Given the description of an element on the screen output the (x, y) to click on. 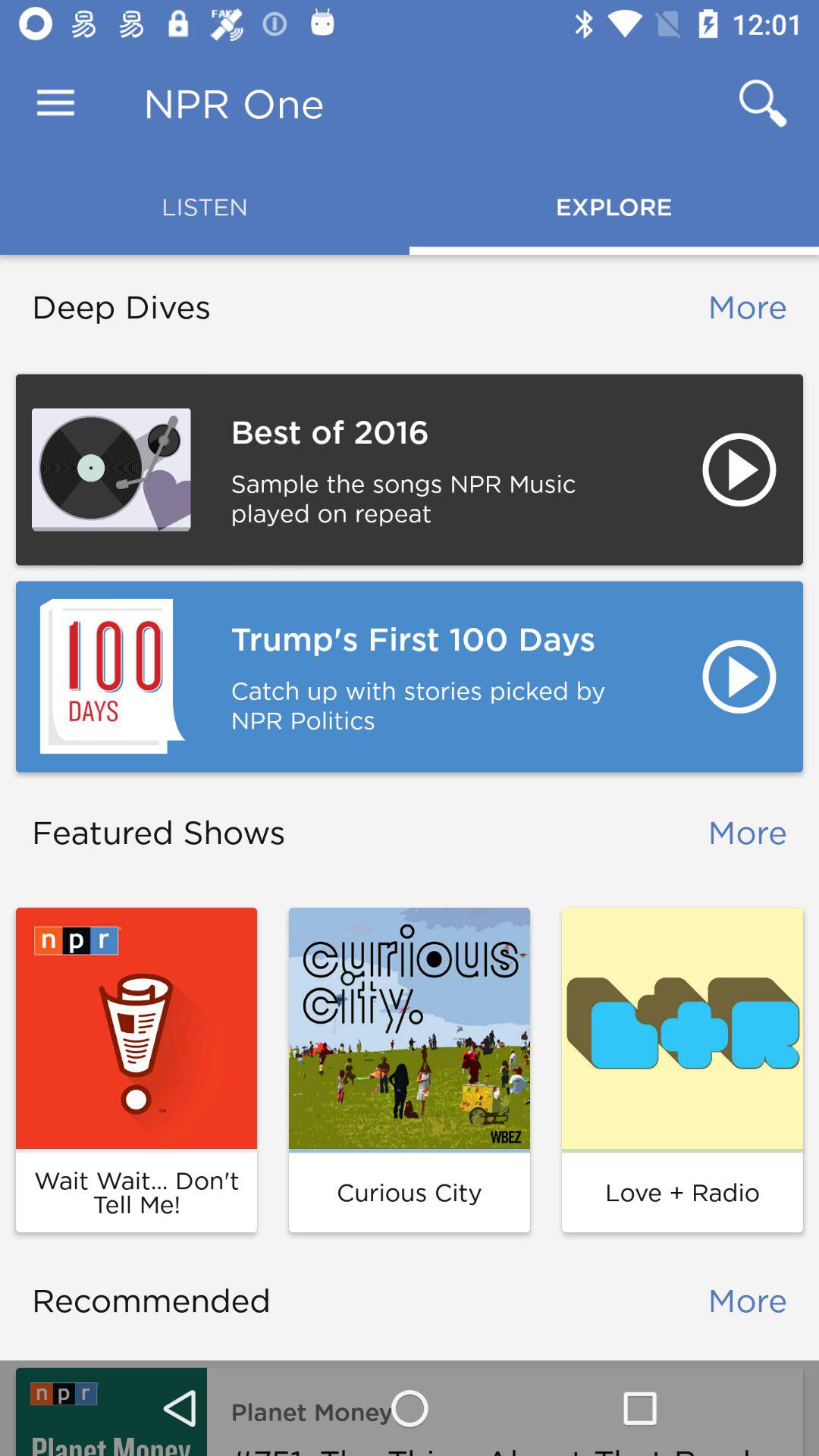
click item to the left of planet money item (111, 1411)
